Given the description of an element on the screen output the (x, y) to click on. 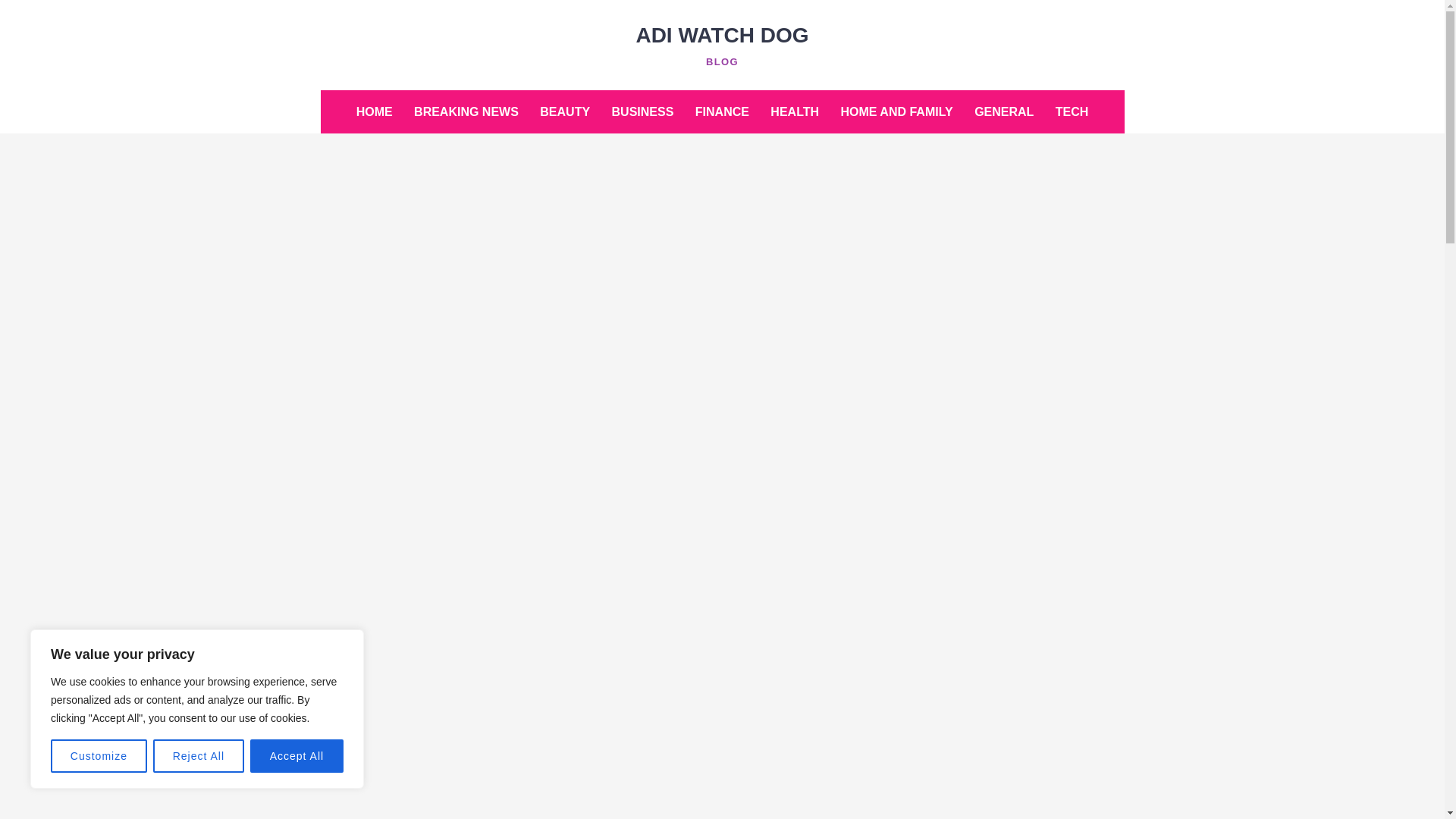
HEALTH (794, 111)
FINANCE (721, 111)
Customize (98, 756)
HOME (374, 111)
TECH (1071, 111)
GENERAL (1003, 111)
Reject All (198, 756)
BEAUTY (564, 111)
Accept All (296, 756)
BREAKING NEWS (465, 111)
HOME AND FAMILY (896, 111)
BUSINESS (642, 111)
ADI WATCH DOG (721, 34)
